Given the description of an element on the screen output the (x, y) to click on. 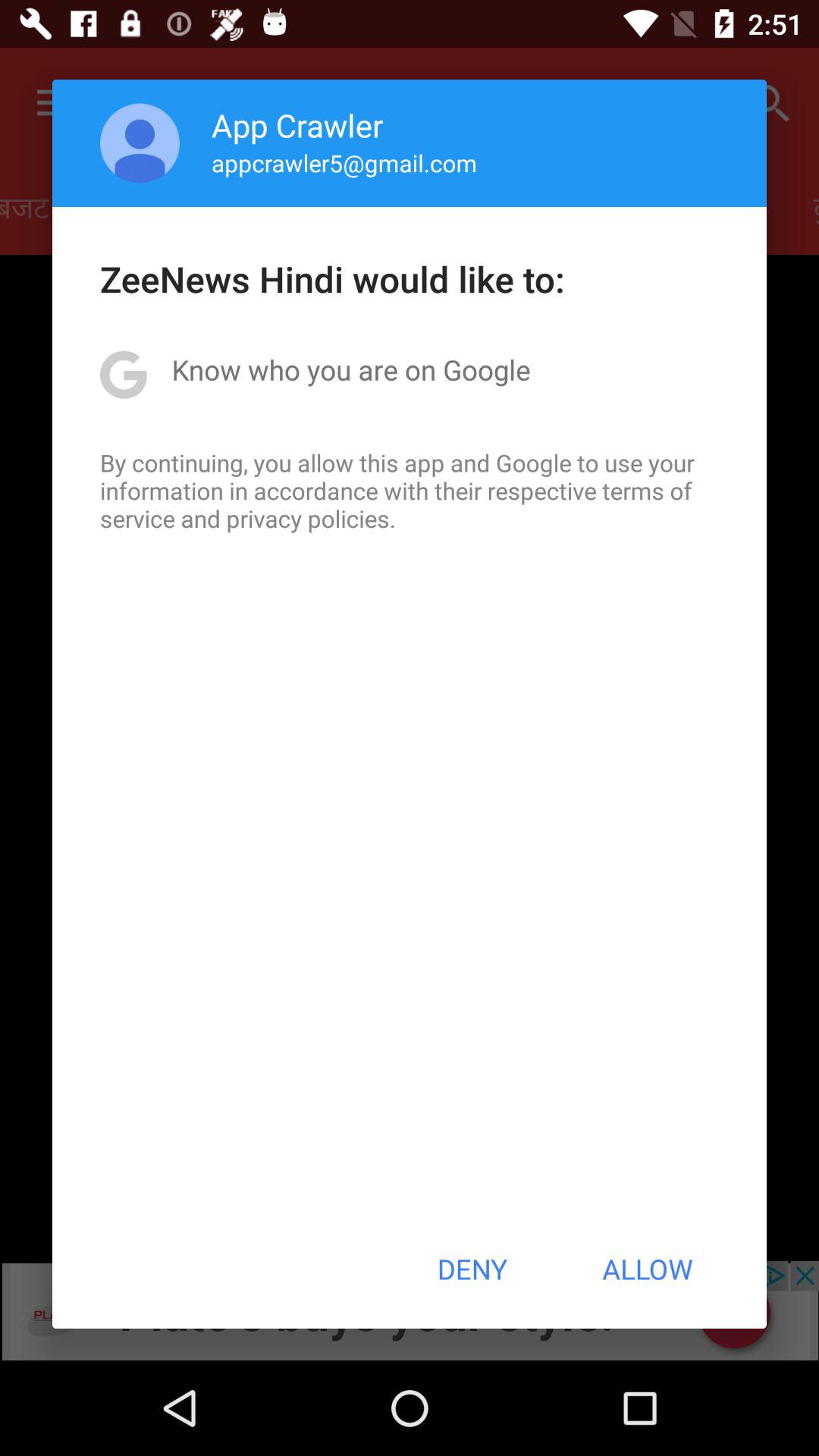
tap icon above the zeenews hindi would (344, 162)
